Given the description of an element on the screen output the (x, y) to click on. 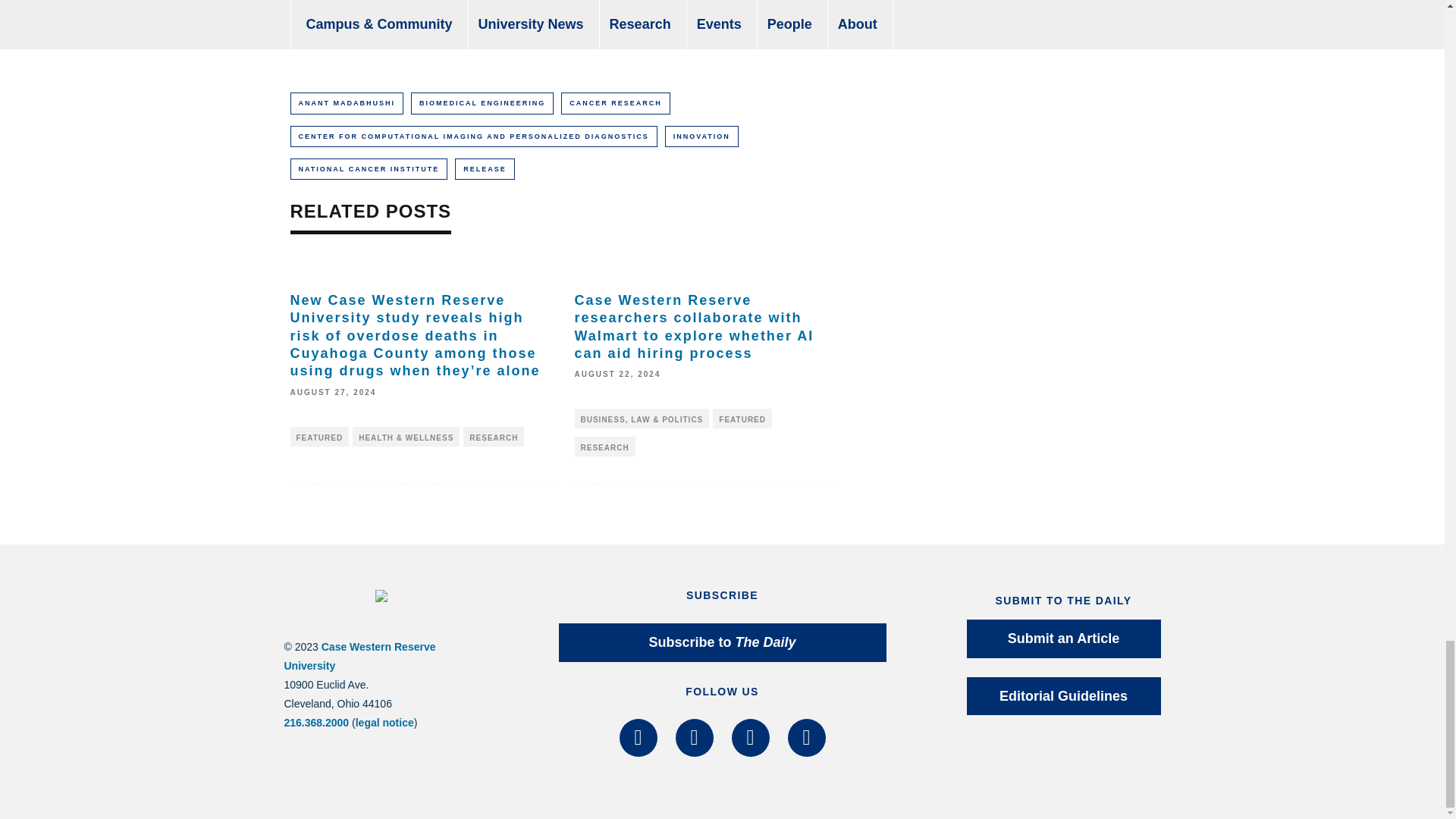
ANANT MADABHUSHI (346, 102)
NATIONAL CANCER INSTITUTE (367, 168)
BIOMEDICAL ENGINEERING (481, 102)
CANCER RESEARCH (614, 102)
FEATURED (319, 436)
RELEASE (484, 168)
INNOVATION (701, 136)
